Given the description of an element on the screen output the (x, y) to click on. 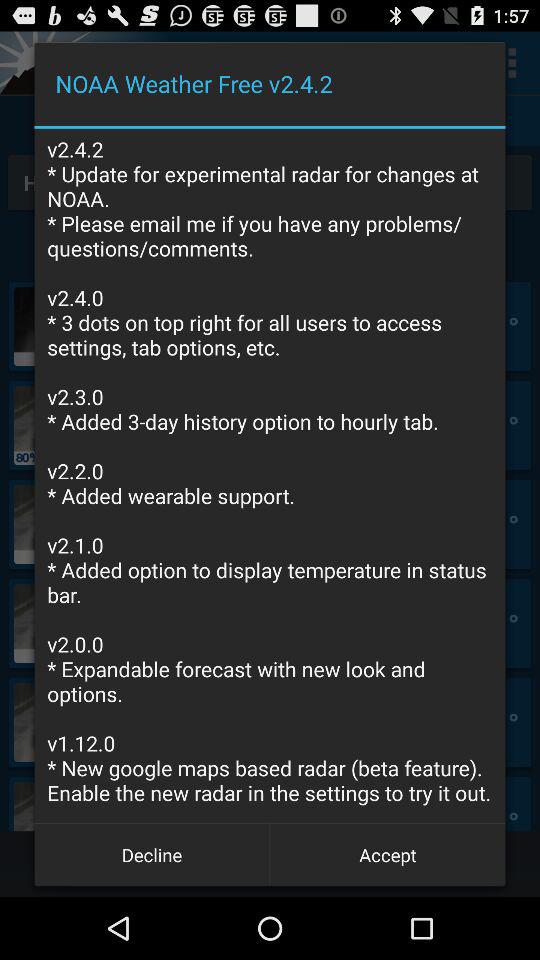
open icon to the left of the accept button (151, 854)
